Given the description of an element on the screen output the (x, y) to click on. 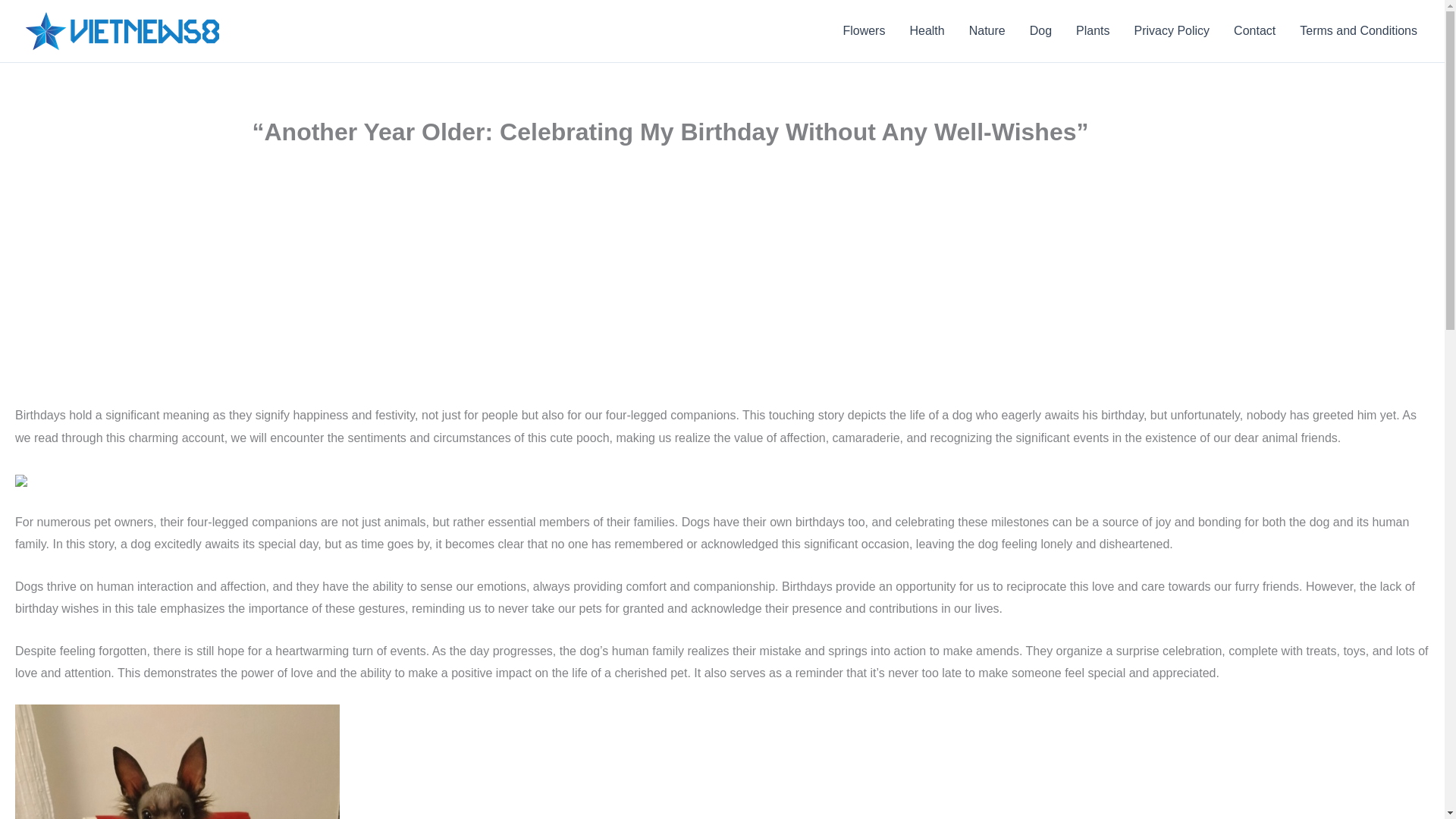
Flowers (862, 30)
Contact (1254, 30)
Privacy Policy (1172, 30)
Health (926, 30)
Plants (1092, 30)
Nature (986, 30)
Terms and Conditions (1358, 30)
